Given the description of an element on the screen output the (x, y) to click on. 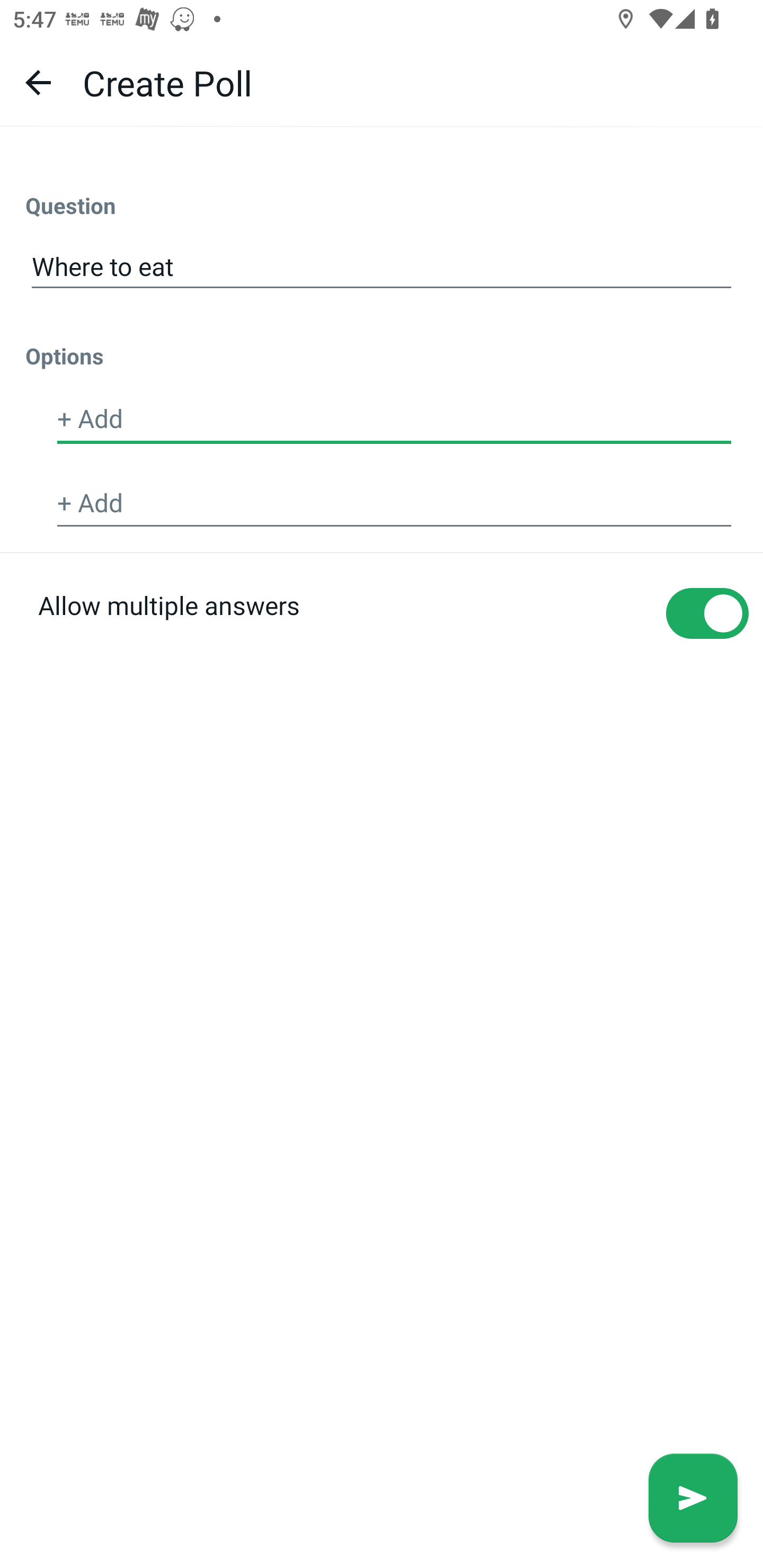
Navigate up (38, 82)
Where to eat (381, 267)
+ Add (394, 419)
+ Add (394, 503)
Allow multiple answers (381, 644)
Send (692, 1497)
